Given the description of an element on the screen output the (x, y) to click on. 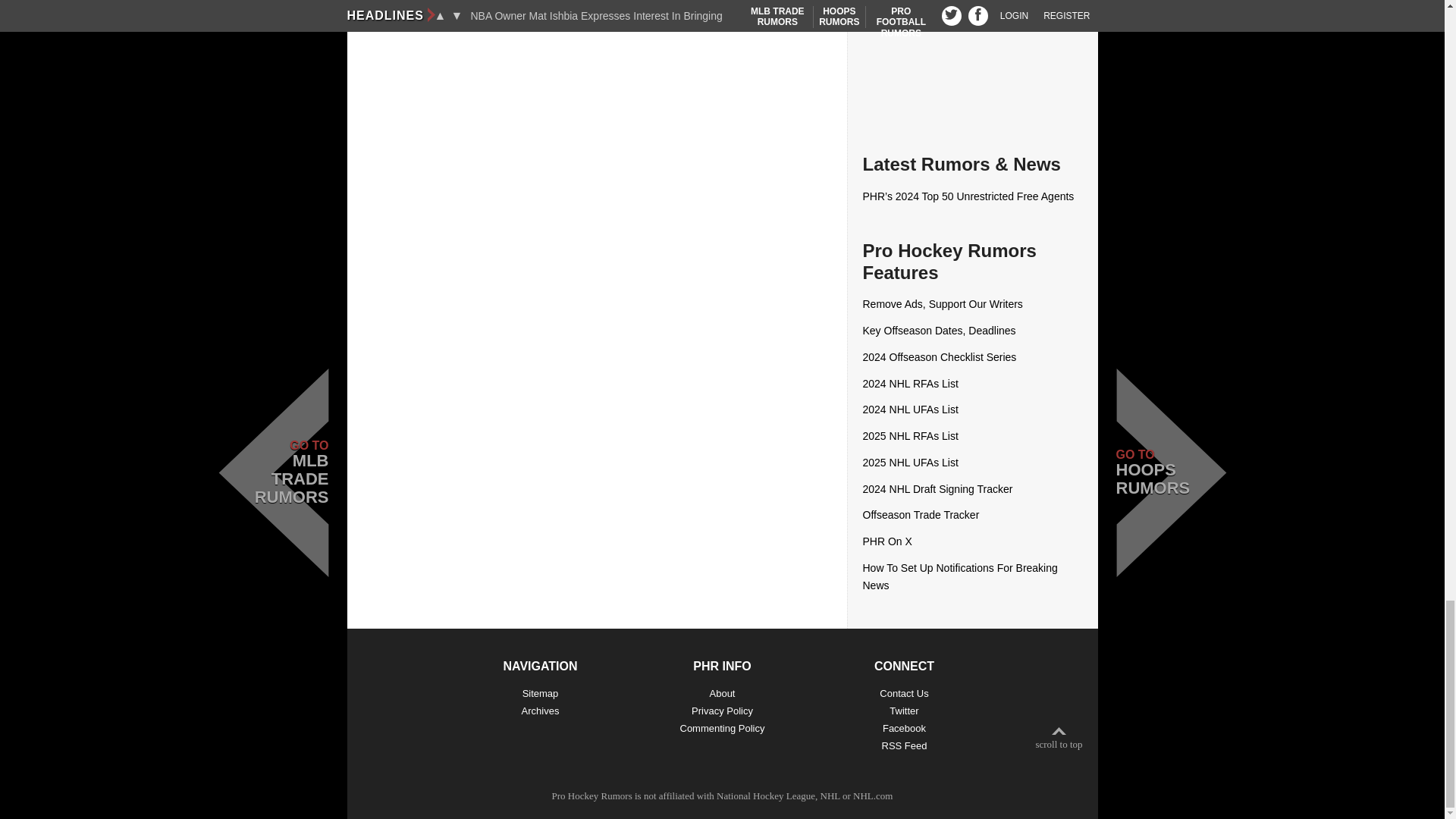
Pro Hockey Rumors (591, 795)
